Given the description of an element on the screen output the (x, y) to click on. 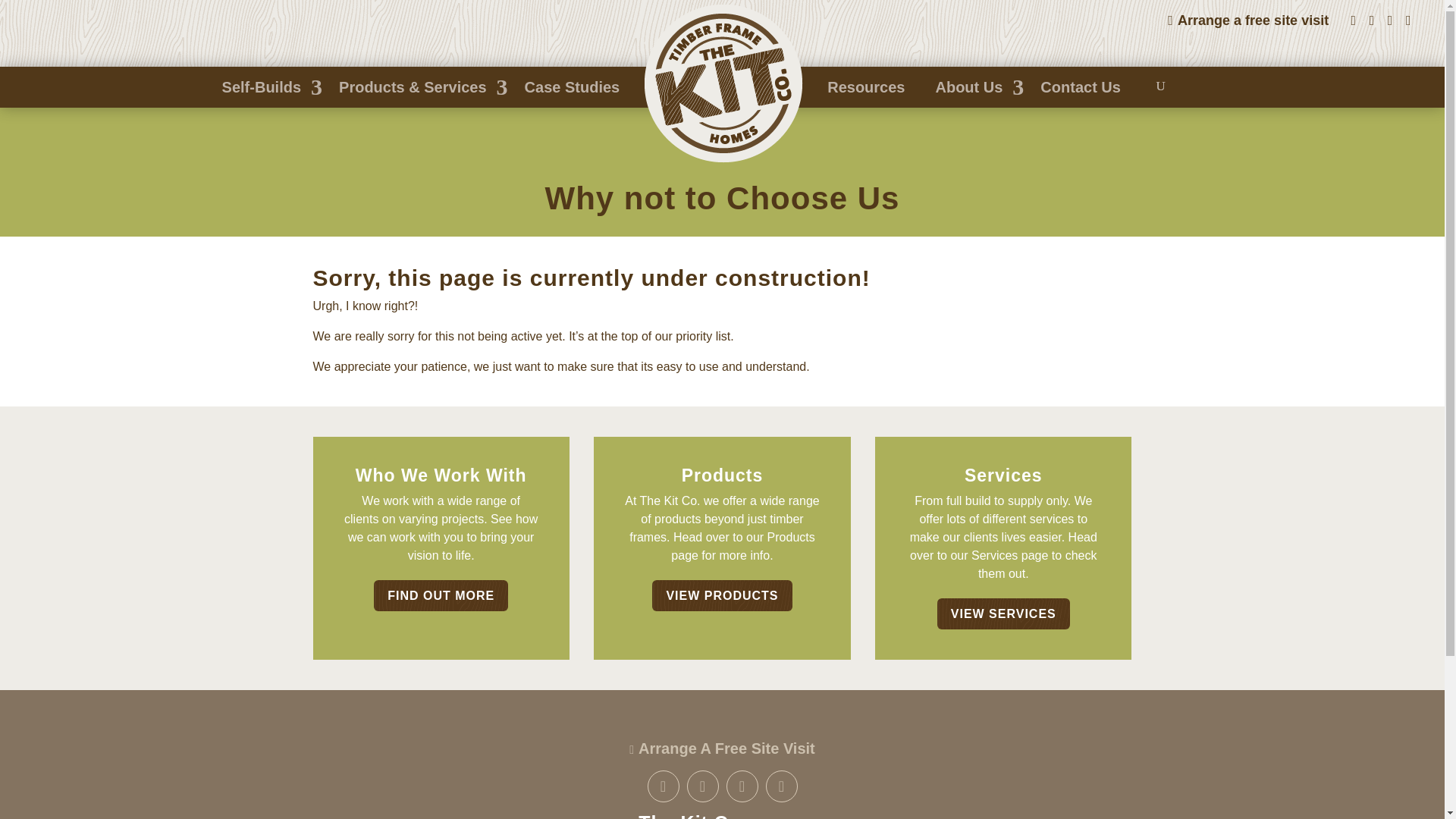
Case Studies (571, 86)
Contact Us (1080, 86)
Resources (866, 86)
About Us (972, 86)
Arrange a free site visit (1245, 20)
Self-Builds (264, 86)
